Given the description of an element on the screen output the (x, y) to click on. 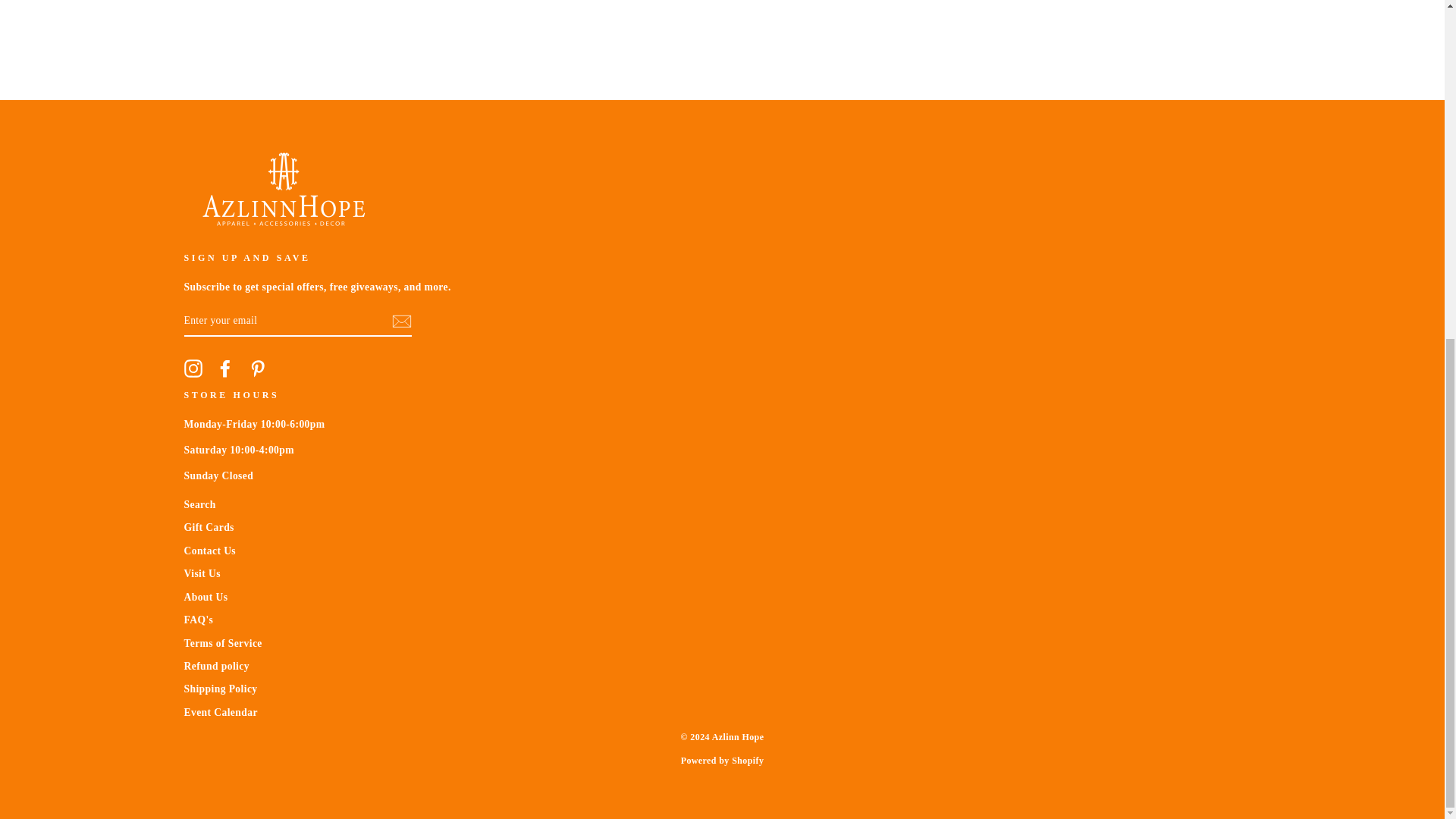
Azlinn Hope on Facebook (224, 368)
Azlinn Hope on Instagram (192, 368)
Azlinn Hope on Pinterest (257, 368)
